Given the description of an element on the screen output the (x, y) to click on. 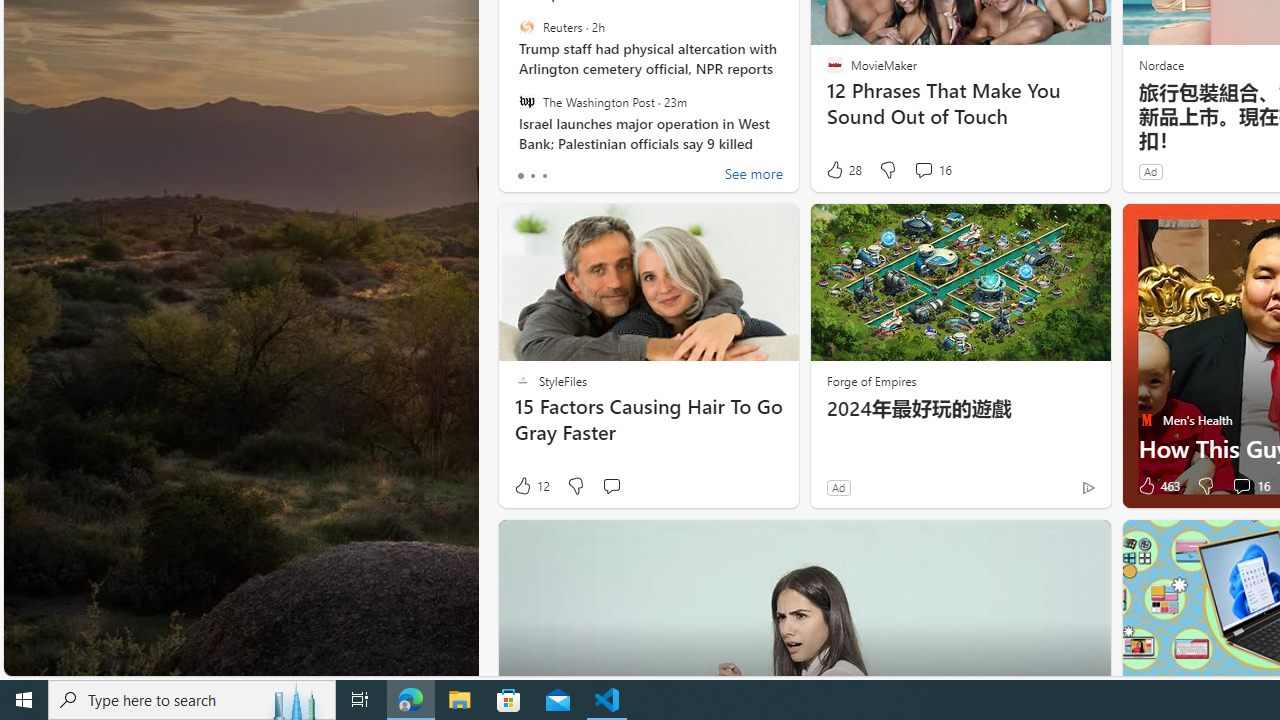
View comments 16 Comment (1249, 485)
The Washington Post (526, 101)
463 Like (1157, 485)
View comments 16 Comment (1241, 485)
tab-2 (543, 175)
Forge of Empires (870, 380)
12 Like (531, 485)
